Given the description of an element on the screen output the (x, y) to click on. 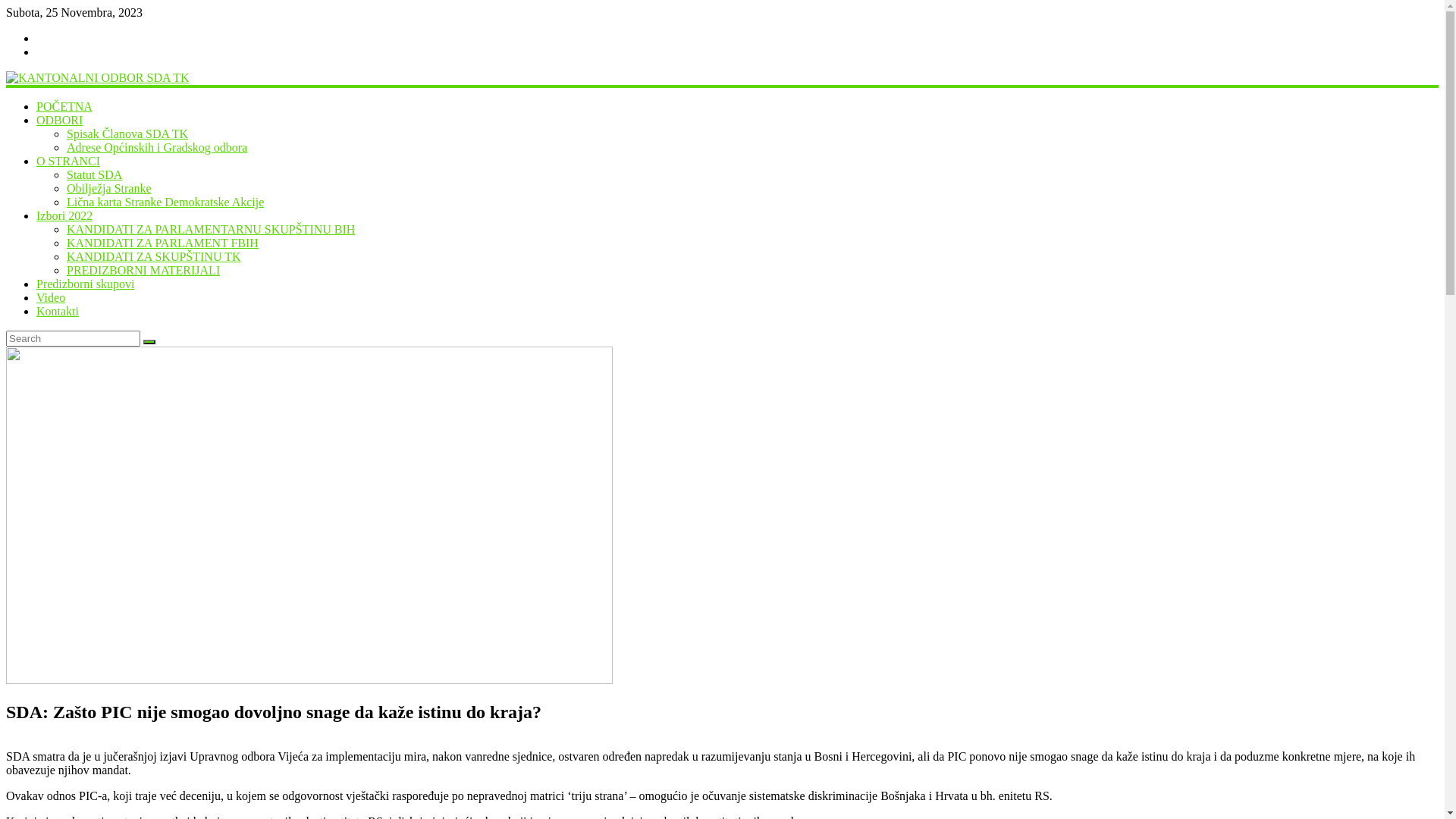
Statut SDA Element type: text (94, 174)
Video Element type: text (50, 297)
Predizborni skupovi Element type: text (85, 283)
Izbori 2022 Element type: text (64, 215)
ODBORI Element type: text (59, 119)
PREDIZBORNI MATERIJALI Element type: text (142, 269)
KANDIDATI ZA PARLAMENT FBIH Element type: text (162, 242)
O STRANCI Element type: text (68, 160)
Kontakti Element type: text (57, 310)
